Given the description of an element on the screen output the (x, y) to click on. 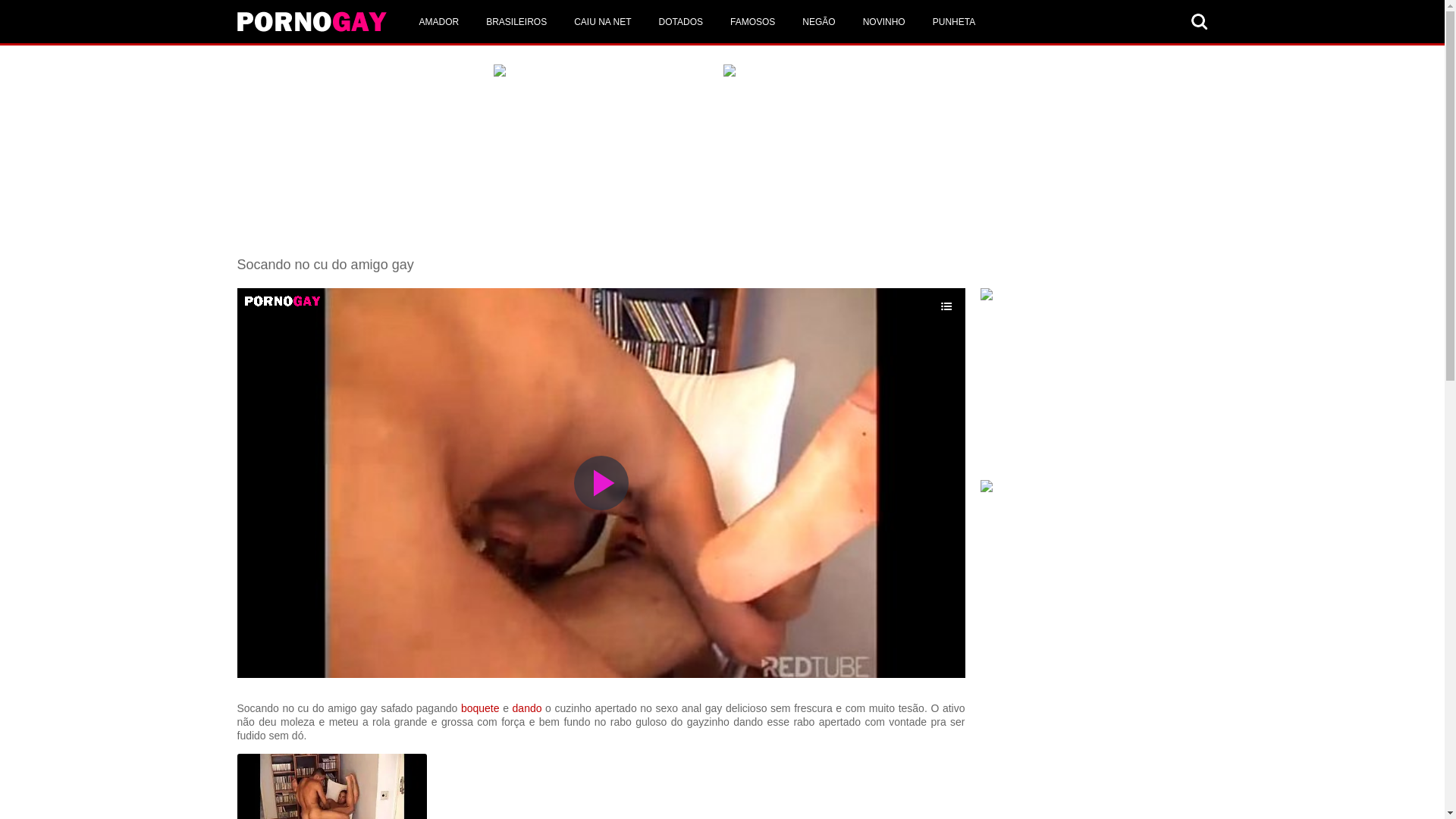
BRASILEIROS Element type: text (516, 21)
DOTADOS Element type: text (680, 21)
FAMOSOS Element type: text (752, 21)
AMADOR Element type: text (438, 21)
dando Element type: text (527, 708)
boquete Element type: text (480, 708)
CAIU NA NET Element type: text (602, 21)
PUNHETA Element type: text (953, 21)
NOVINHO Element type: text (884, 21)
